Given the description of an element on the screen output the (x, y) to click on. 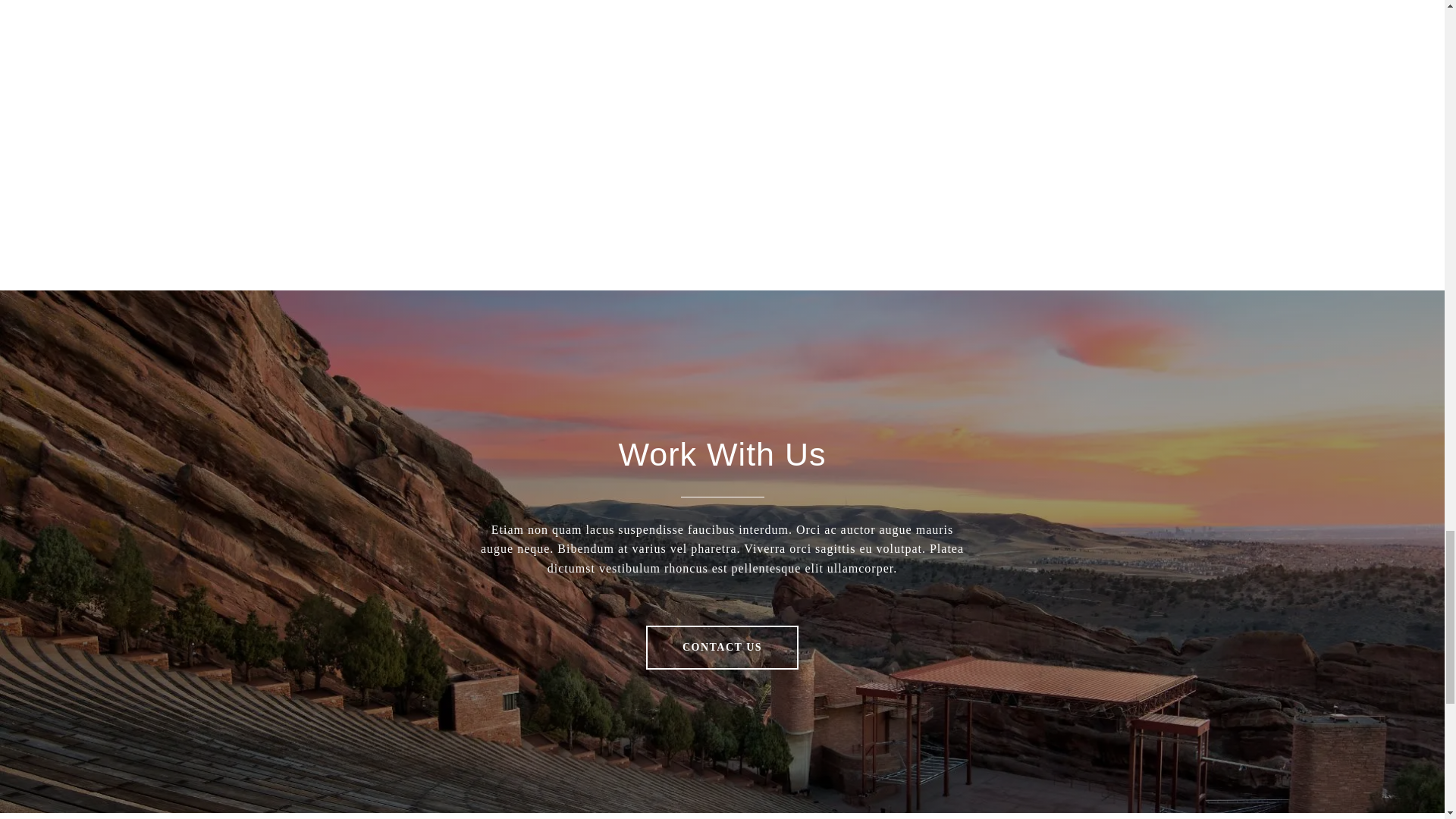
CONTACT US (721, 647)
